Given the description of an element on the screen output the (x, y) to click on. 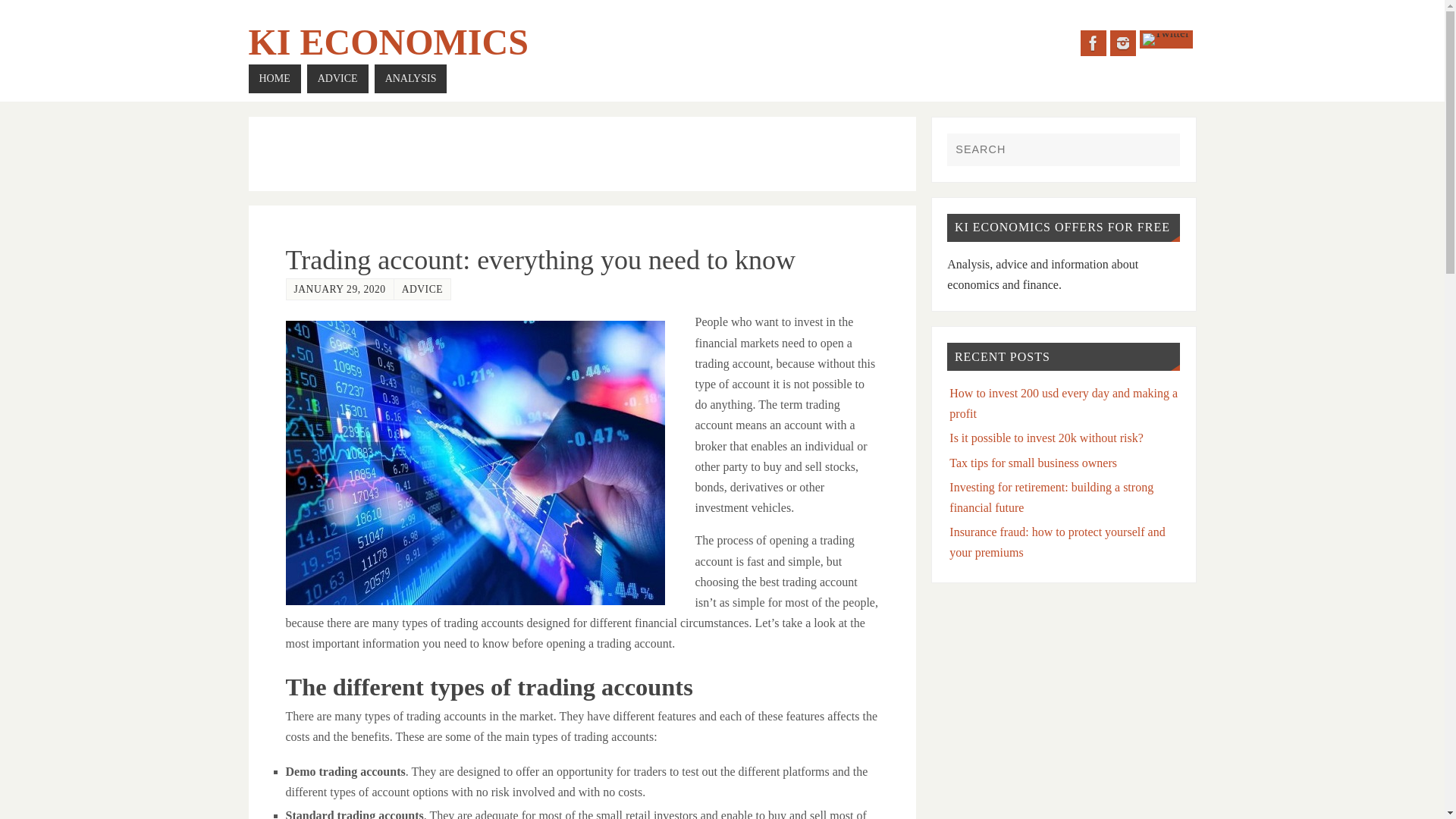
Instagram (1122, 43)
Investing for retirement: building a strong financial future (1051, 497)
Twitter (1166, 39)
Insurance fraud: how to protect yourself and your premiums (1056, 541)
Is it possible to invest 20k without risk? (1045, 437)
Tax tips for small business owners (1032, 462)
ADVICE (421, 288)
Facebook (1093, 43)
Ki Economics (388, 42)
ADVICE (337, 78)
